Given the description of an element on the screen output the (x, y) to click on. 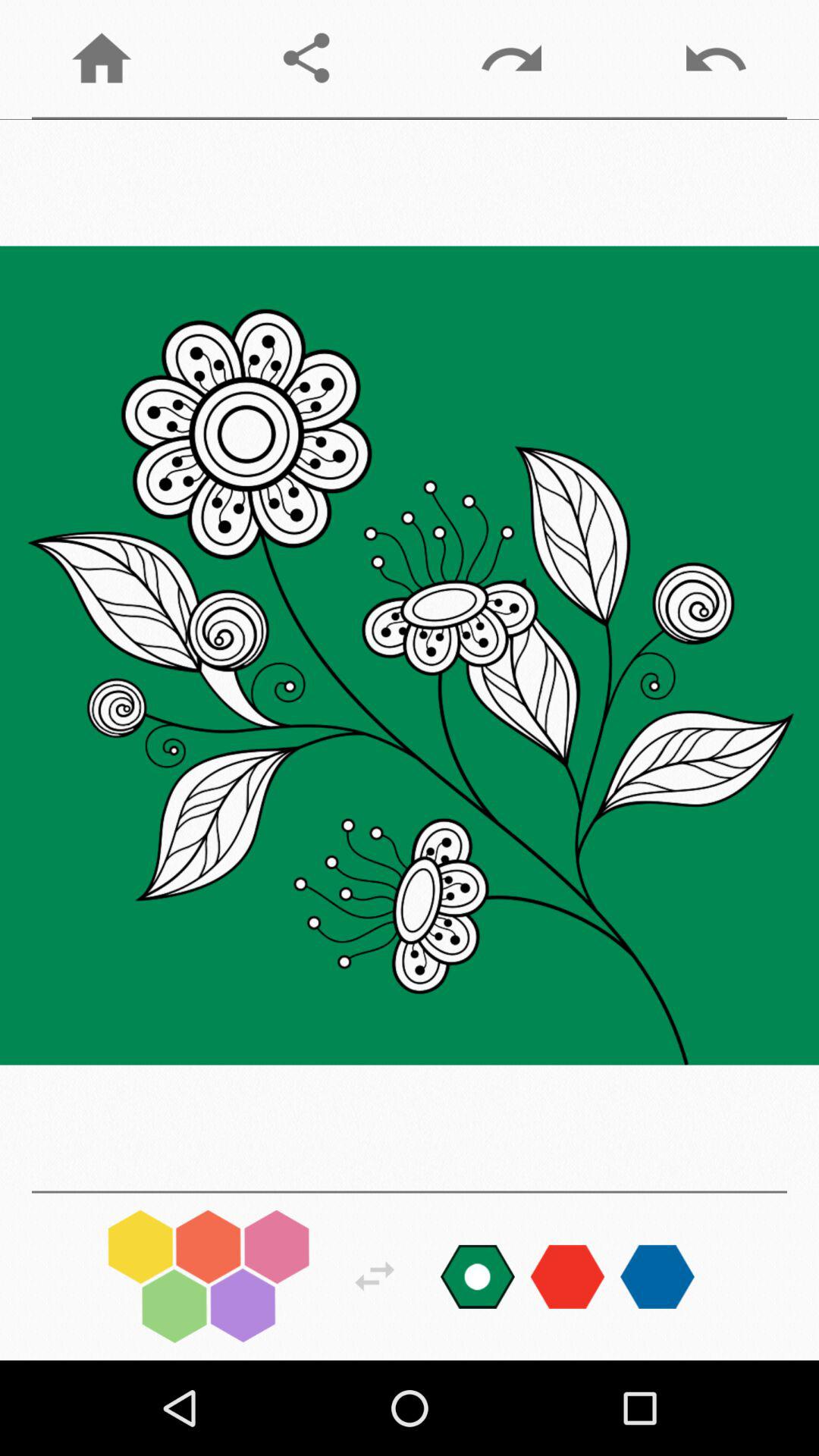
next move (374, 1276)
